Given the description of an element on the screen output the (x, y) to click on. 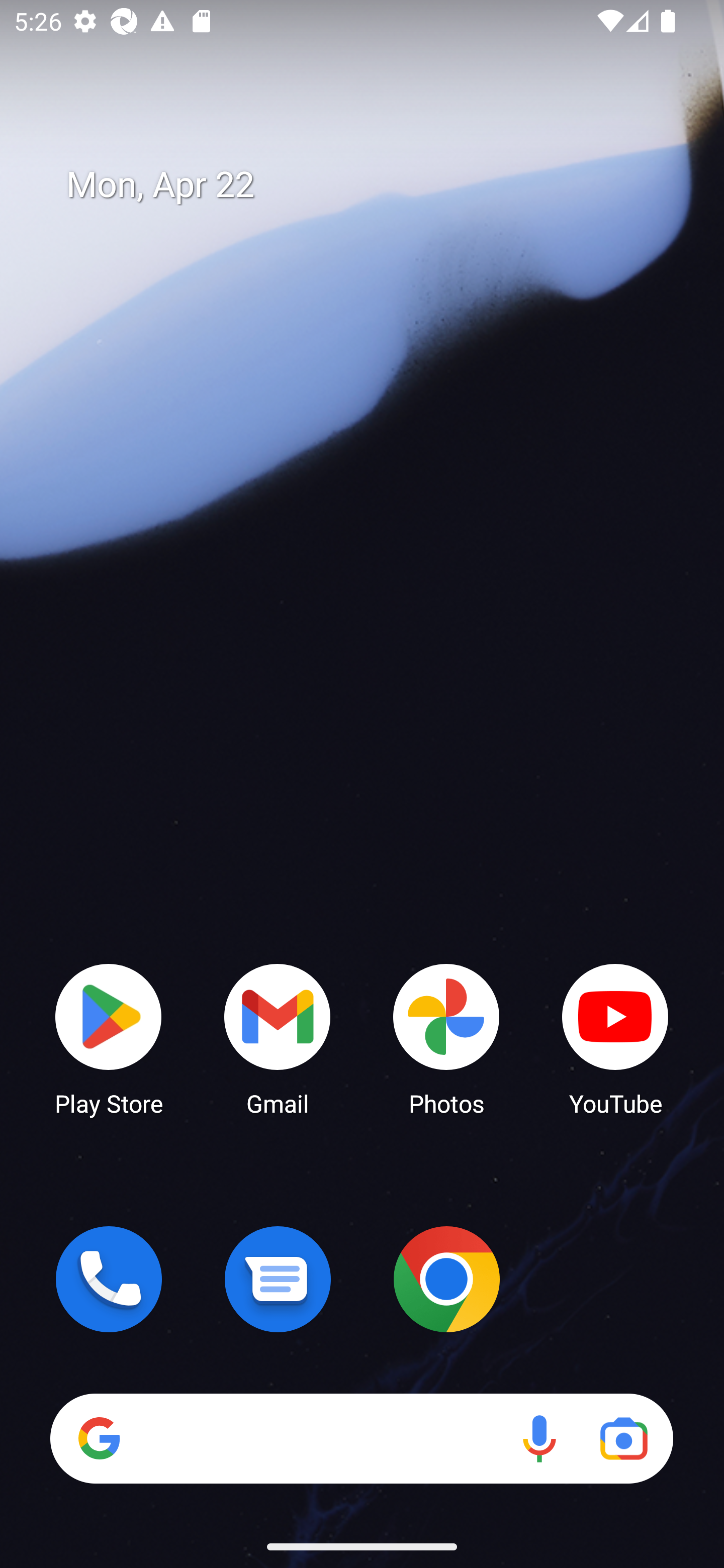
Mon, Apr 22 (375, 184)
Play Store (108, 1038)
Gmail (277, 1038)
Photos (445, 1038)
YouTube (615, 1038)
Phone (108, 1279)
Messages (277, 1279)
Chrome (446, 1279)
Search Voice search Google Lens (361, 1438)
Voice search (539, 1438)
Google Lens (623, 1438)
